Given the description of an element on the screen output the (x, y) to click on. 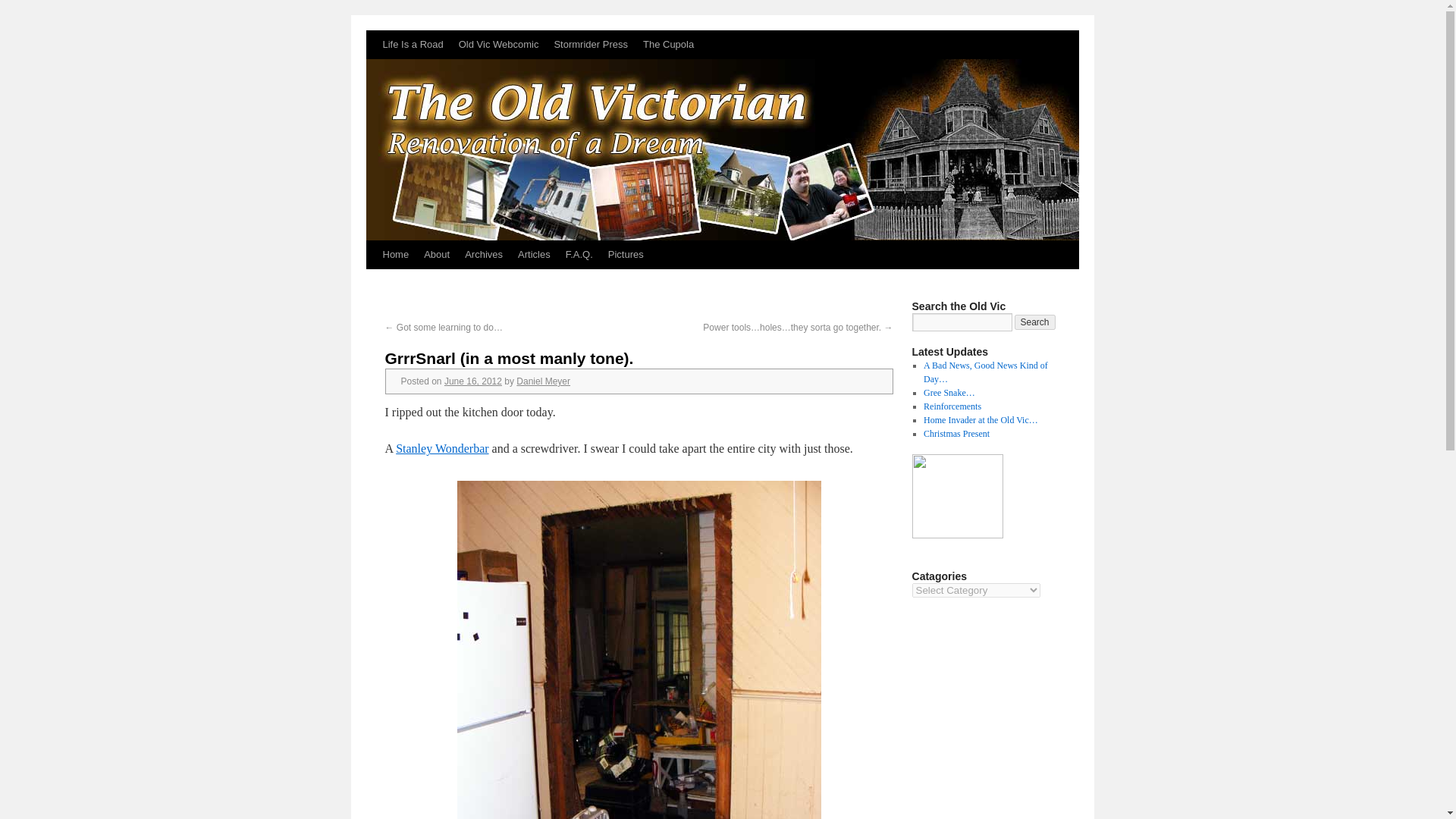
Life Is a Road (411, 44)
Daniel Meyer (957, 534)
Search (1034, 322)
Home (395, 254)
Old Vic Webcomic (499, 44)
View all posts by Daniel Meyer (543, 380)
Articles (534, 254)
The Cupola (667, 44)
Pictures (624, 254)
Daniel Meyer (543, 380)
